Given the description of an element on the screen output the (x, y) to click on. 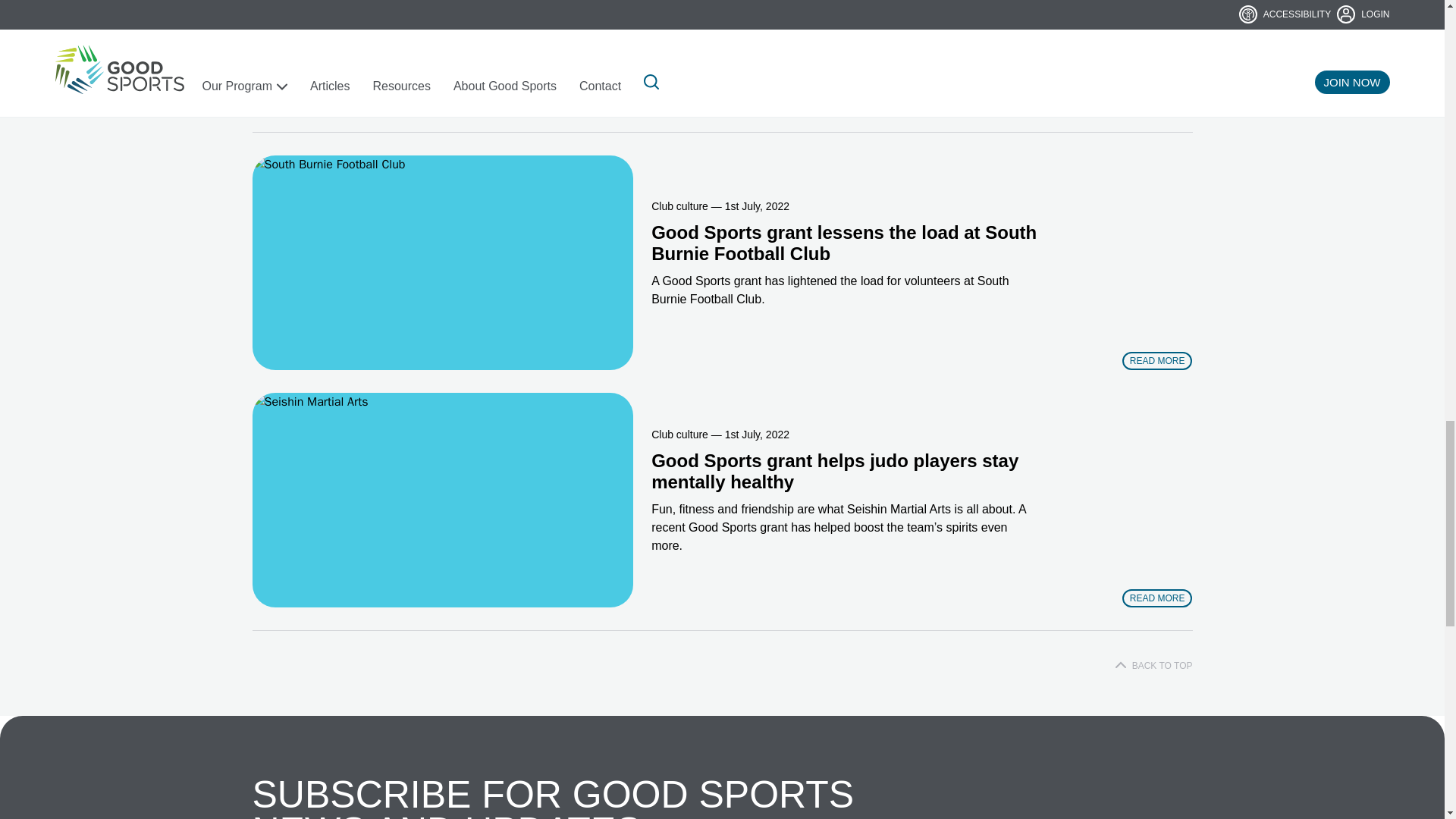
READ MORE (1157, 361)
Good Sports grant helps judo players stay mentally healthy (442, 500)
READ MORE (1157, 597)
BACK TO TOP (1153, 665)
